Given the description of an element on the screen output the (x, y) to click on. 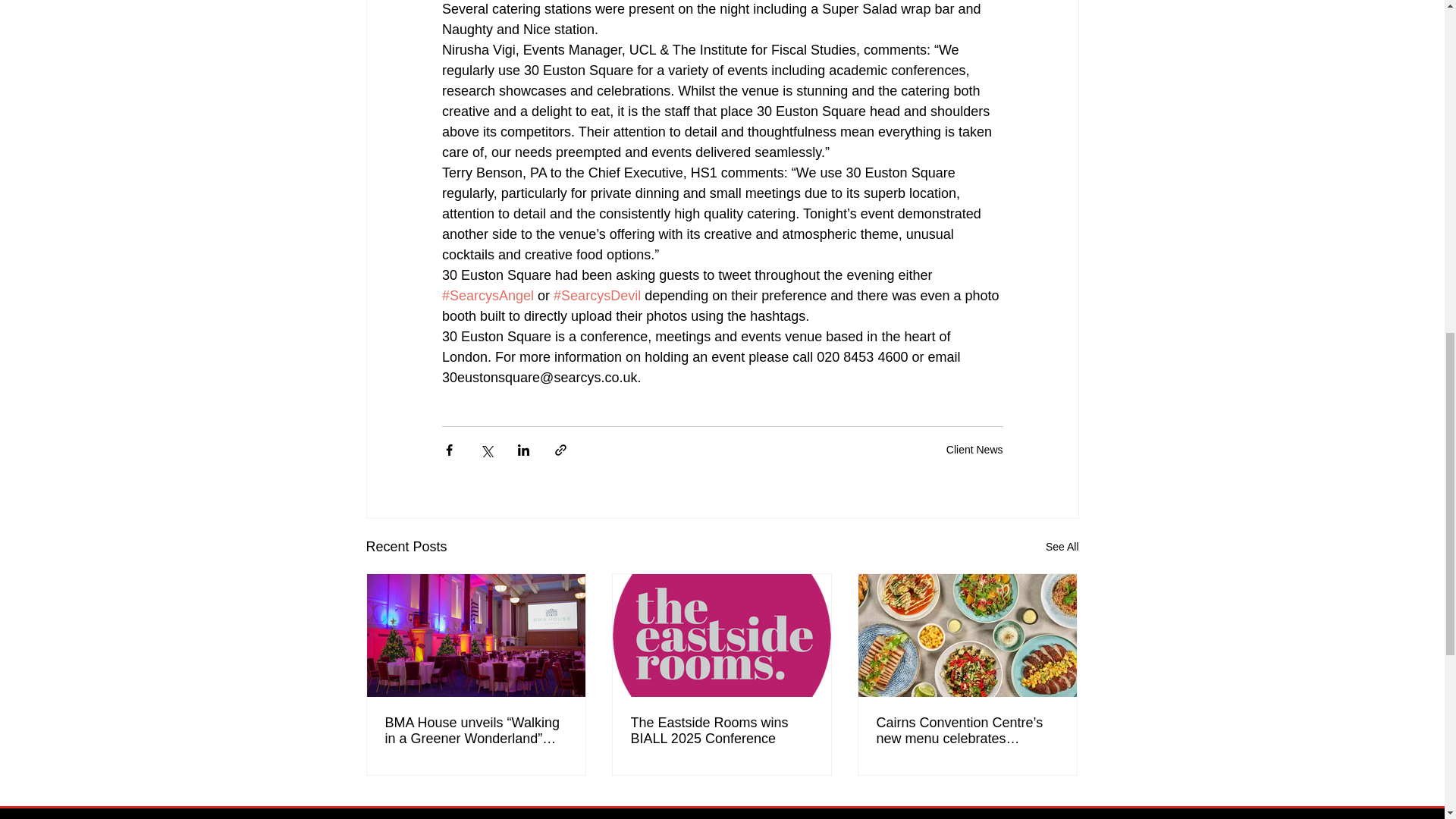
See All (1061, 546)
The Eastside Rooms wins BIALL 2025 Conference (721, 730)
Client News (974, 449)
